Given the description of an element on the screen output the (x, y) to click on. 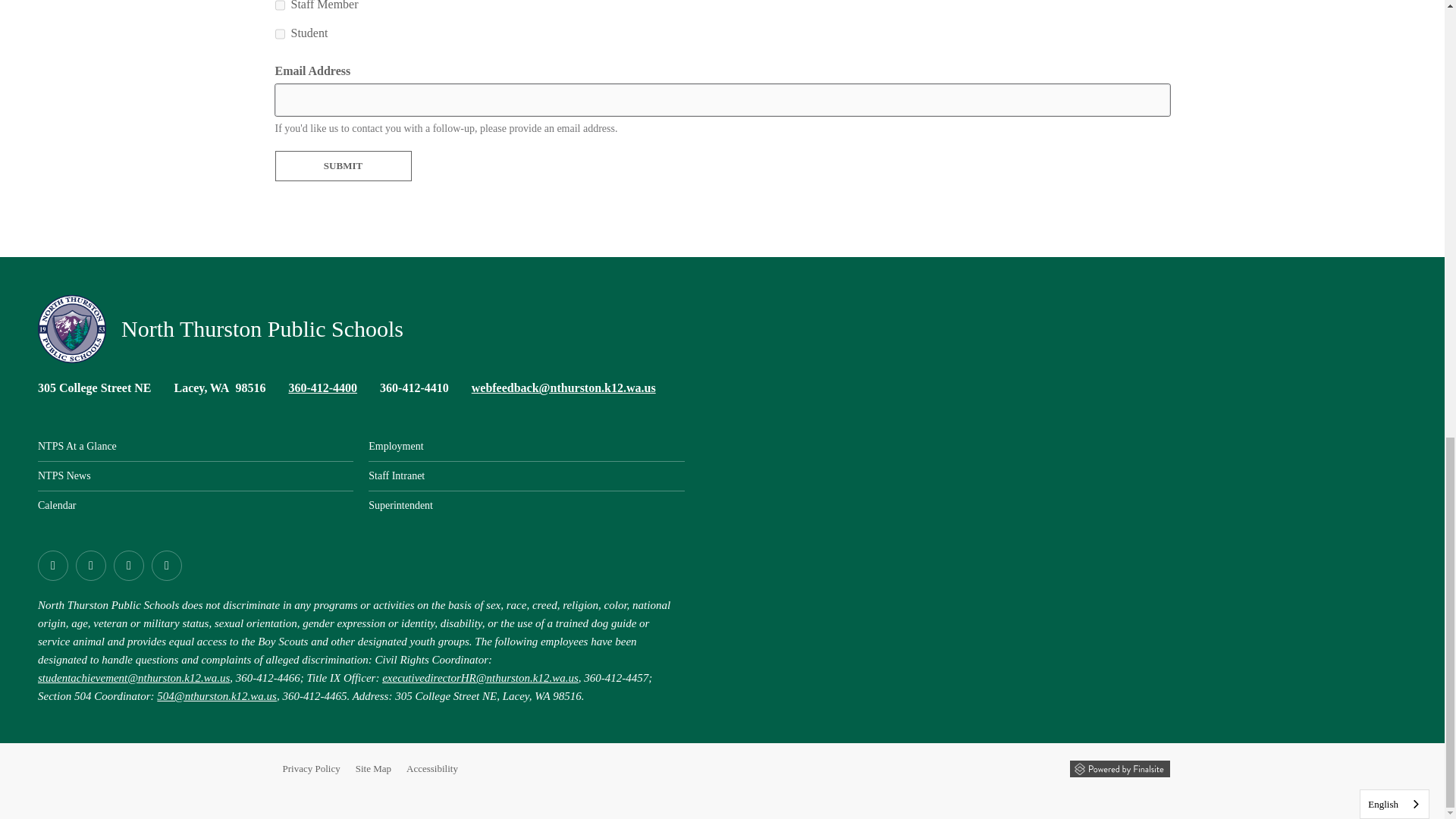
Powered by Finalsite opens in a new window (1118, 768)
Email (563, 387)
